Given the description of an element on the screen output the (x, y) to click on. 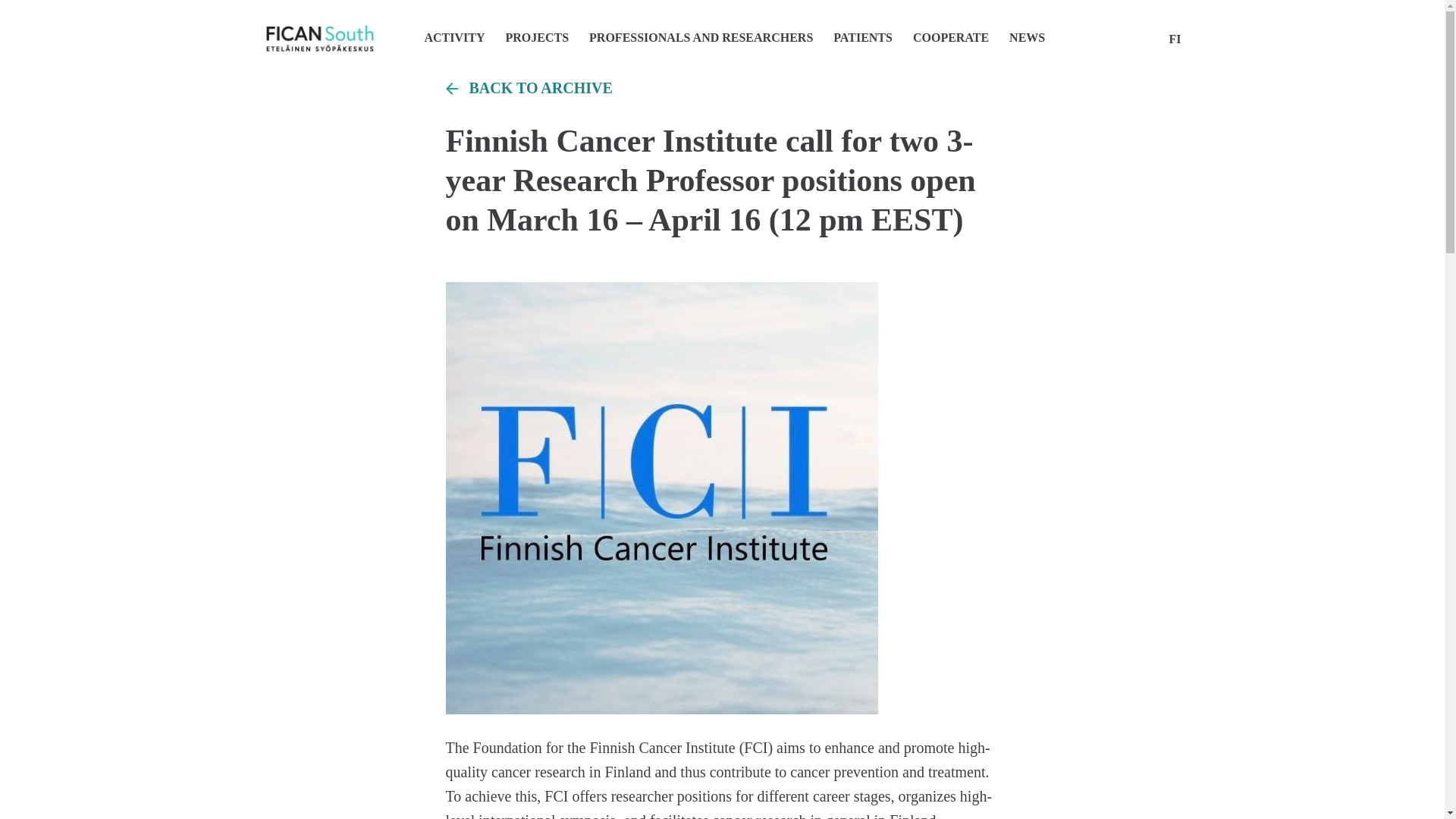
PROFESSIONALS AND RESEARCHERS (701, 38)
ACTIVITY (455, 38)
FI (1174, 38)
COOPERATE (952, 38)
PATIENTS (864, 38)
PROJECTS (538, 38)
BACK TO ARCHIVE (721, 87)
